Given the description of an element on the screen output the (x, y) to click on. 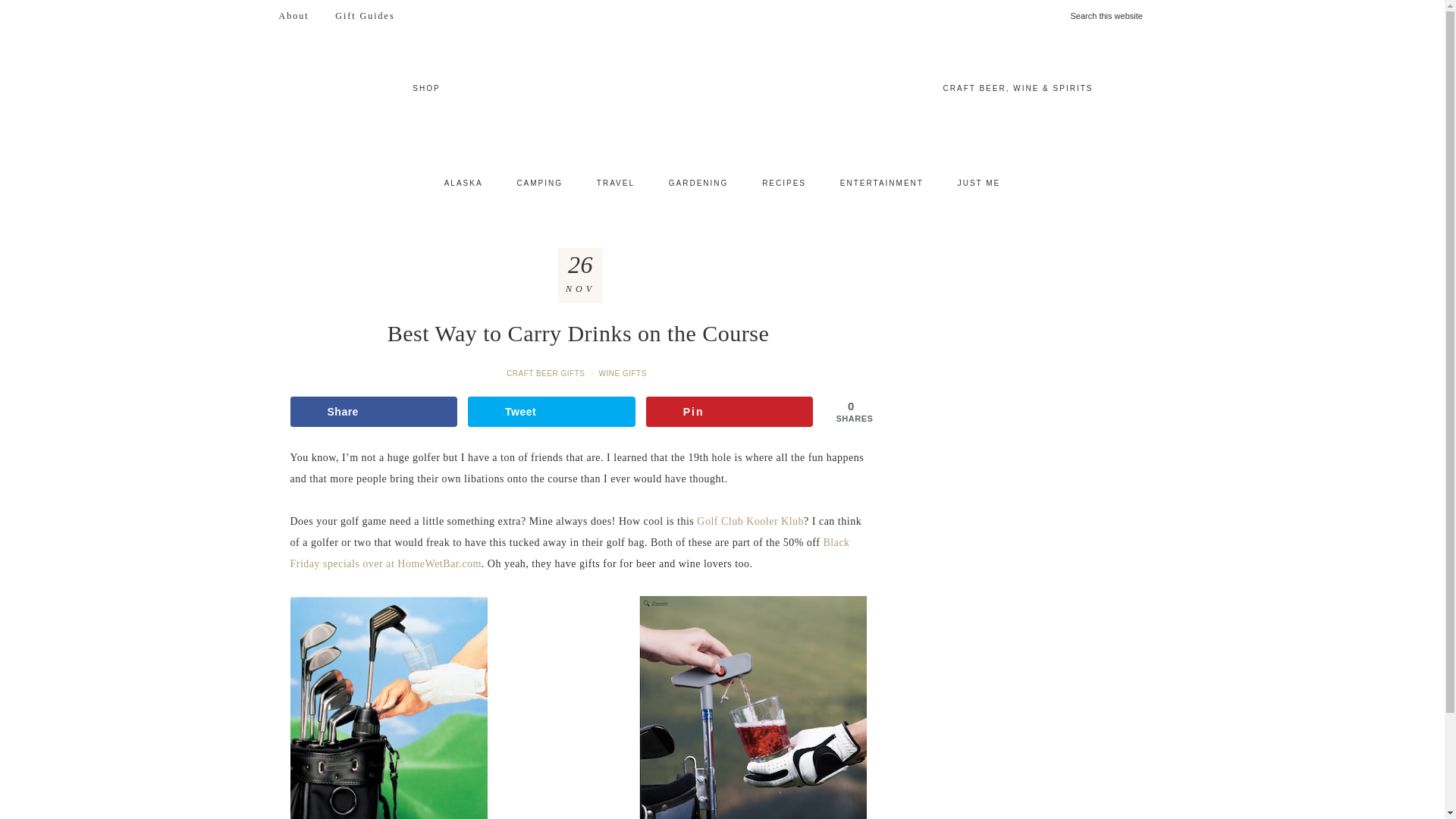
Save to Pinterest (729, 411)
TRAVEL (614, 183)
Share on Facebook (373, 411)
Gift Guides (364, 15)
ENTERTAINMENT (882, 183)
About (293, 15)
CAMPING (539, 183)
ALASKA (463, 183)
KRISTI TRIMMER (722, 97)
Share on Twitter (550, 411)
GARDENING (698, 183)
SHOP (425, 88)
RECIPES (783, 183)
